Given the description of an element on the screen output the (x, y) to click on. 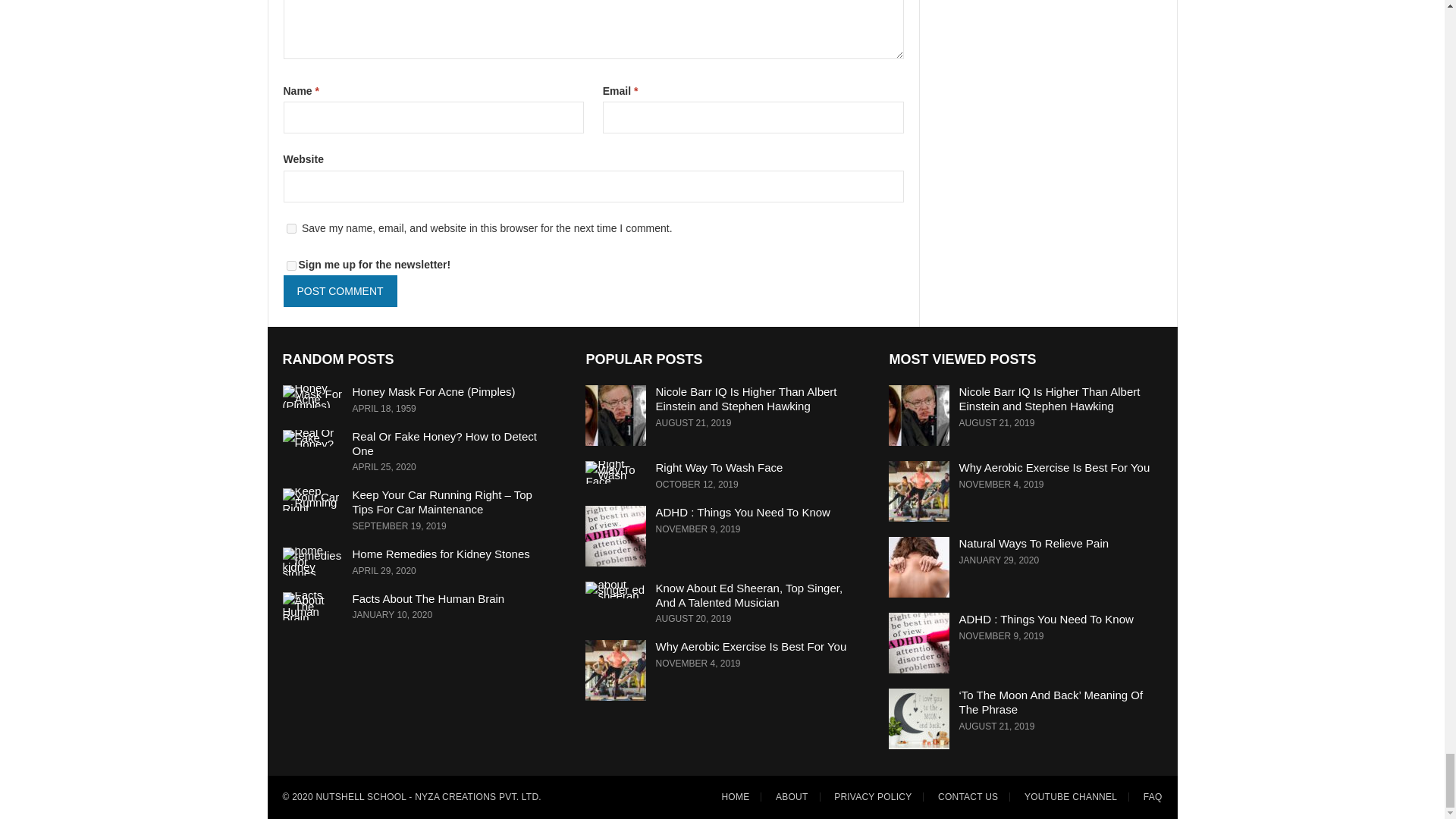
yes (291, 228)
1 (291, 266)
Post Comment (340, 291)
